Given the description of an element on the screen output the (x, y) to click on. 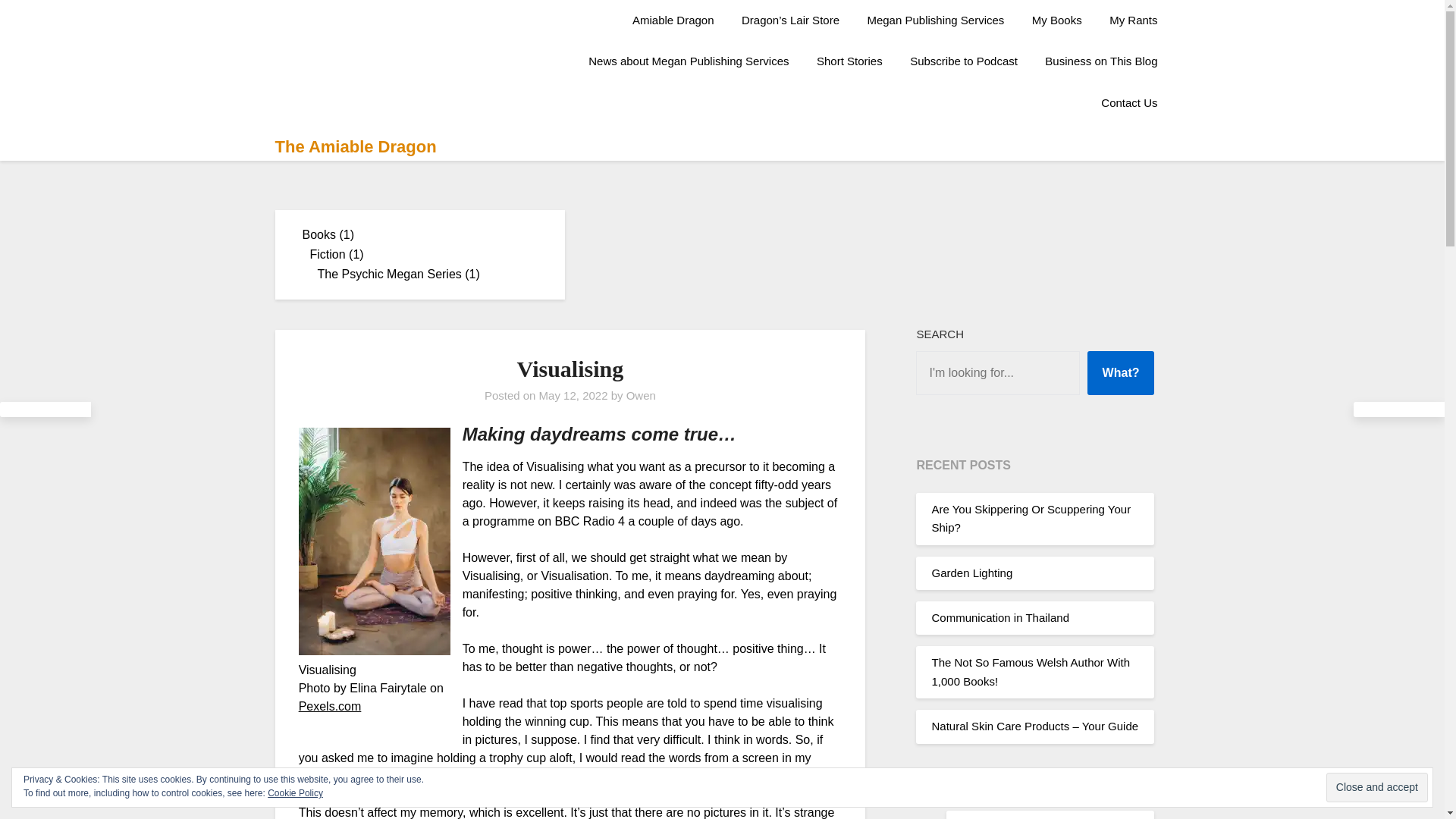
Business on This Blog (1100, 60)
Close and accept (1377, 787)
Owen (641, 395)
Fiction (326, 254)
News about Megan Publishing Services (688, 60)
The Psychic Megan Series (389, 273)
May 12, 2022 (573, 395)
Pexels.com (329, 706)
Contact Us (1129, 102)
My Rants (1133, 20)
Books (317, 234)
Short Stories (850, 60)
The Amiable Dragon (355, 146)
Megan Publishing Services (935, 20)
Subscribe to Podcast (963, 60)
